Given the description of an element on the screen output the (x, y) to click on. 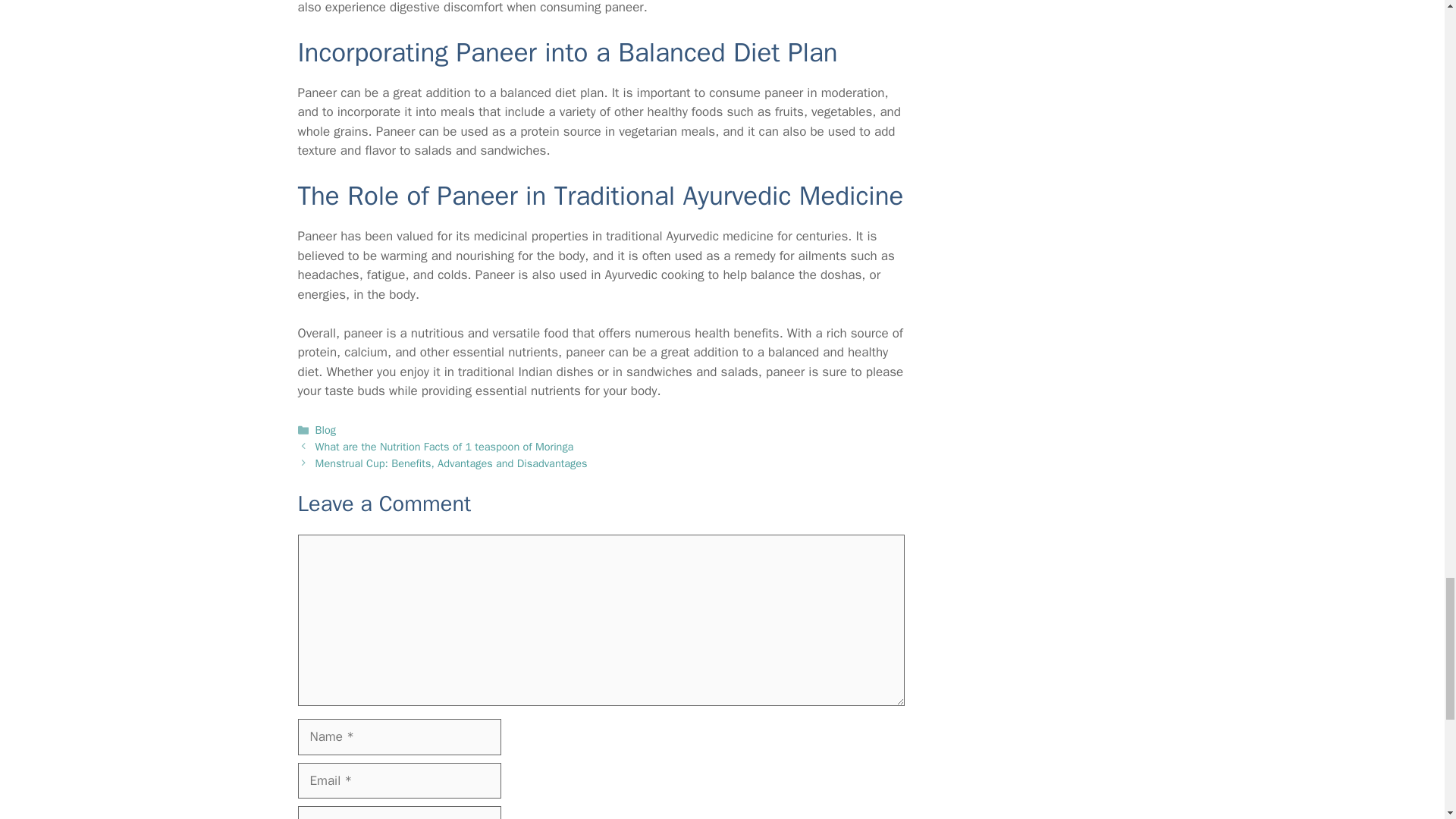
Blog (325, 429)
What are the Nutrition Facts of 1 teaspoon of Moringa (444, 446)
Menstrual Cup: Benefits, Advantages and Disadvantages (451, 463)
